Given the description of an element on the screen output the (x, y) to click on. 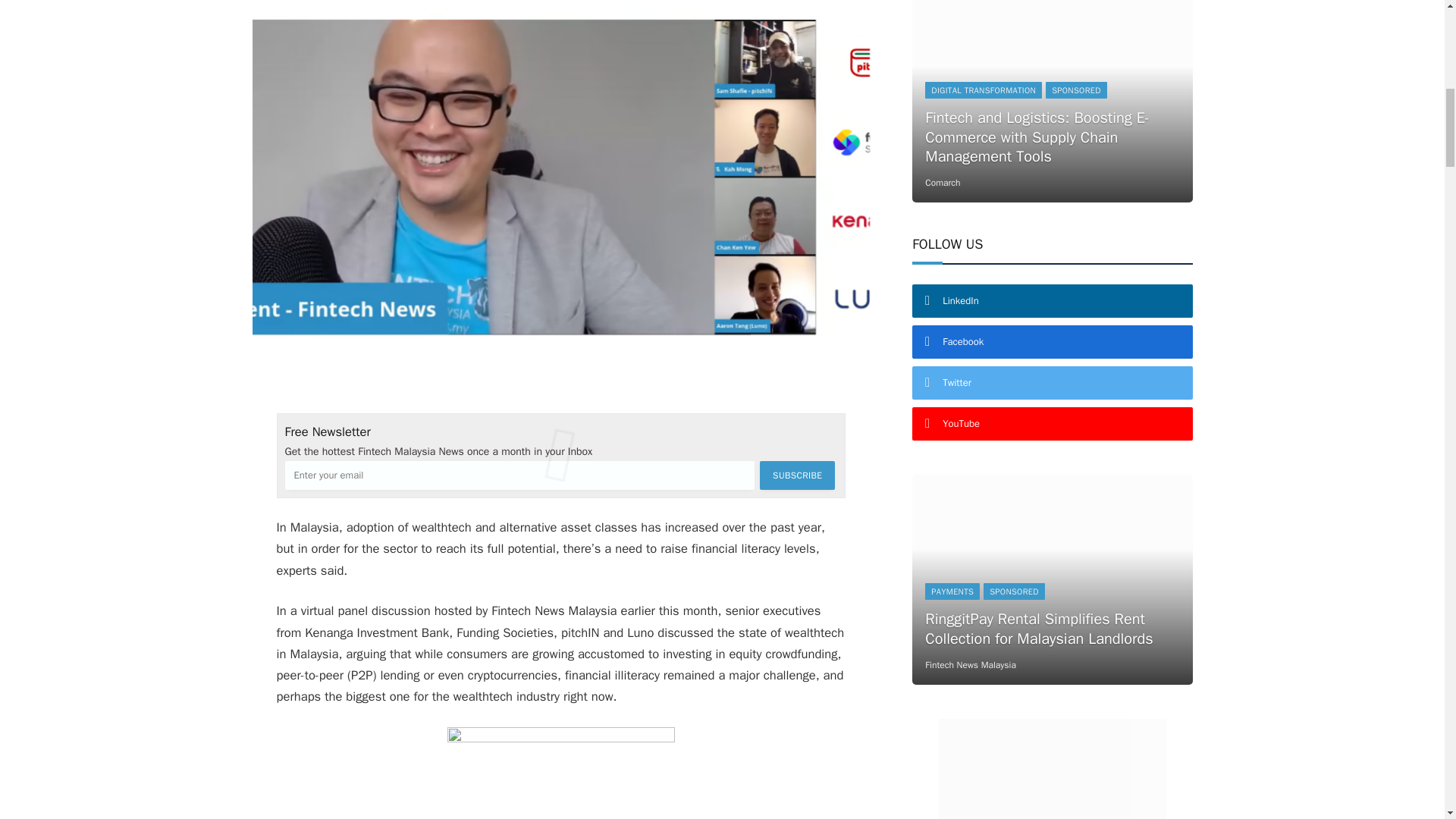
Subscribe (797, 475)
